Given the description of an element on the screen output the (x, y) to click on. 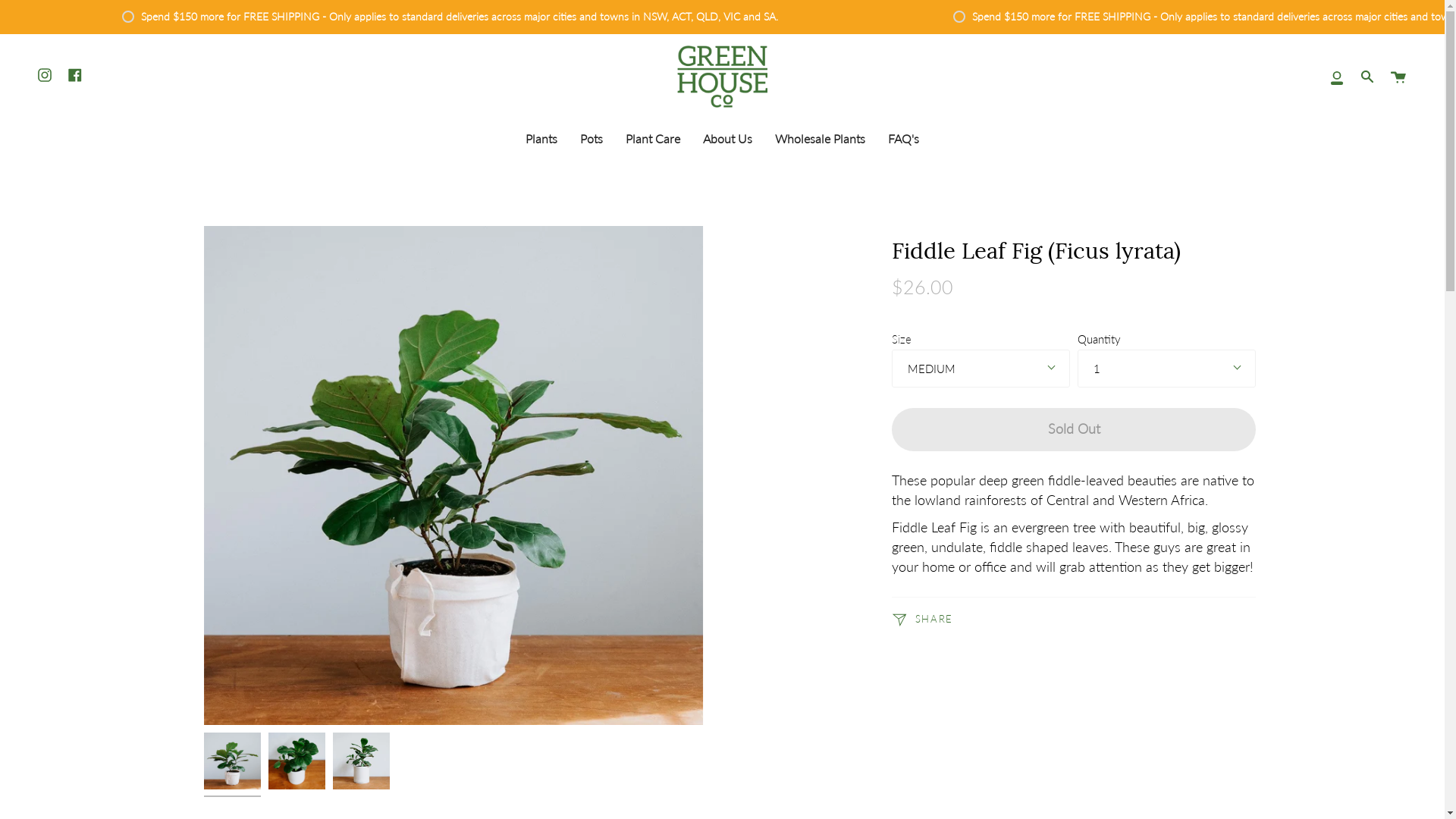
Search Element type: text (1367, 76)
My Account Element type: text (1336, 76)
Facebook Element type: text (74, 75)
Sold Out Element type: text (1073, 428)
About Us Element type: text (727, 137)
Plants Element type: text (541, 137)
Wholesale Plants Element type: text (819, 137)
Instagram Element type: text (44, 75)
Cart Element type: text (1398, 76)
SHARE Element type: text (922, 619)
MEDIUM Element type: text (980, 368)
1 Element type: text (1166, 368)
Pots Element type: text (591, 137)
Plant Care Element type: text (652, 137)
FAQ's Element type: text (903, 137)
